Given the description of an element on the screen output the (x, y) to click on. 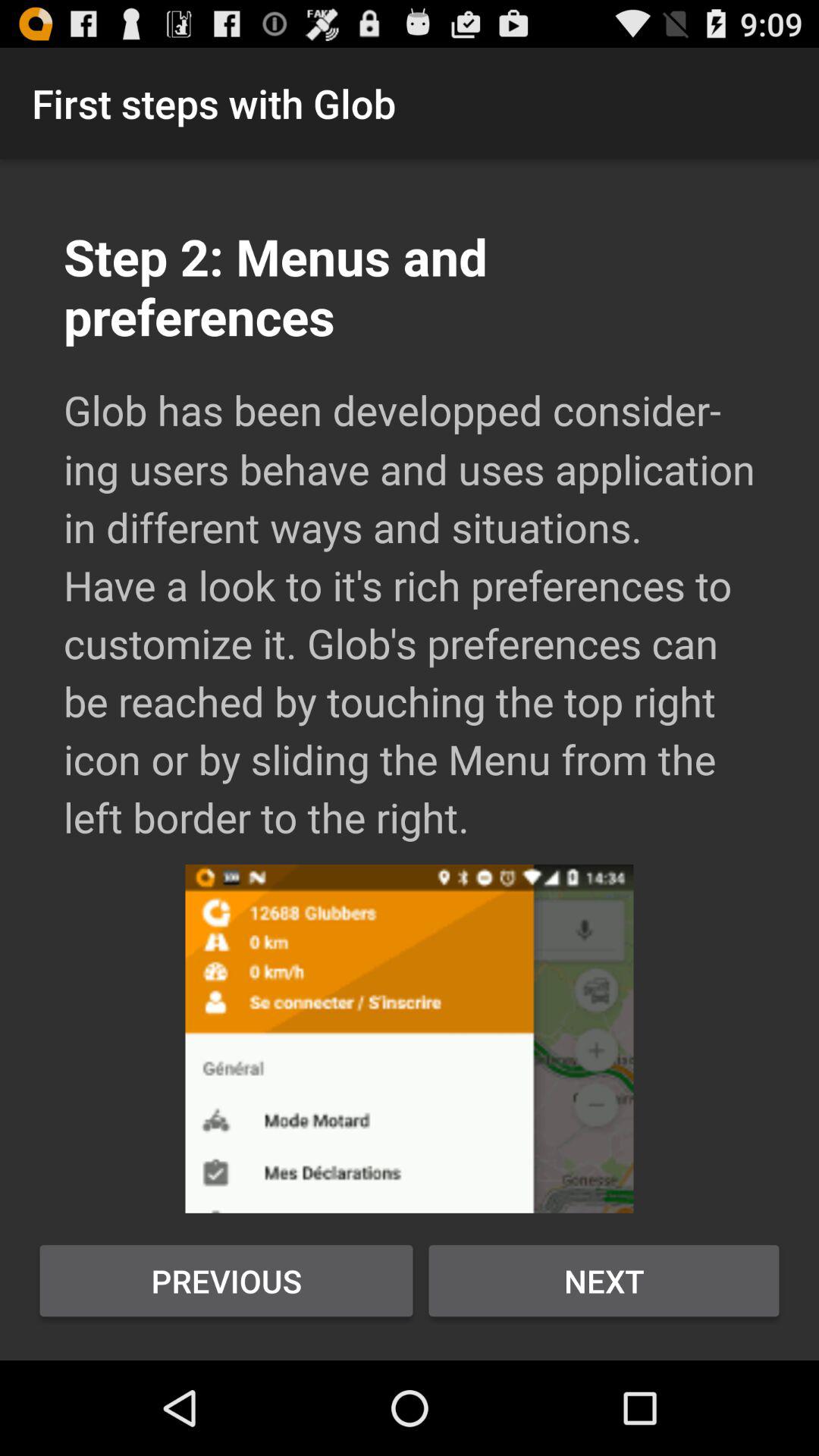
turn on icon next to the previous button (603, 1280)
